Given the description of an element on the screen output the (x, y) to click on. 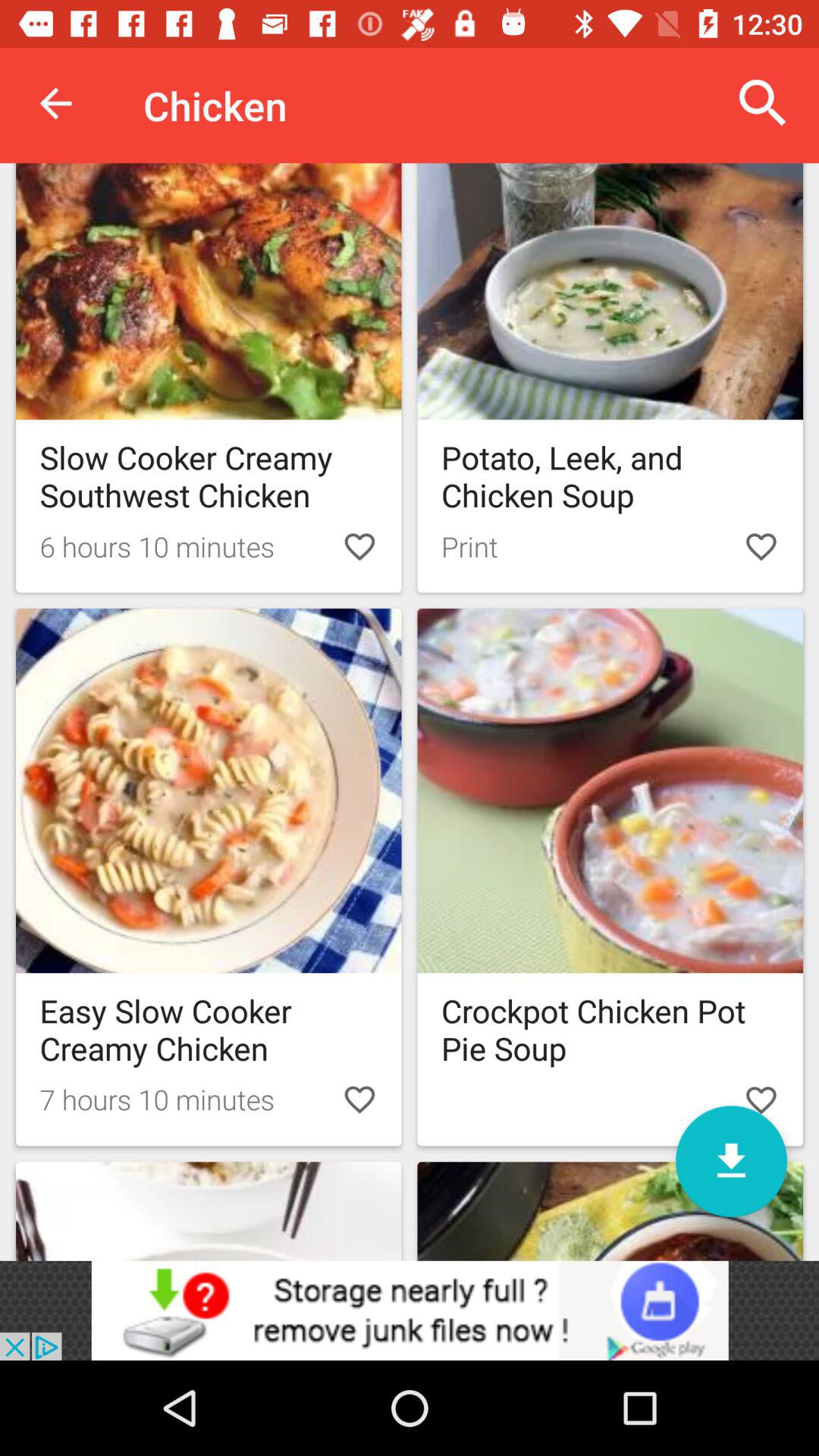
see advertisement (409, 1310)
